Given the description of an element on the screen output the (x, y) to click on. 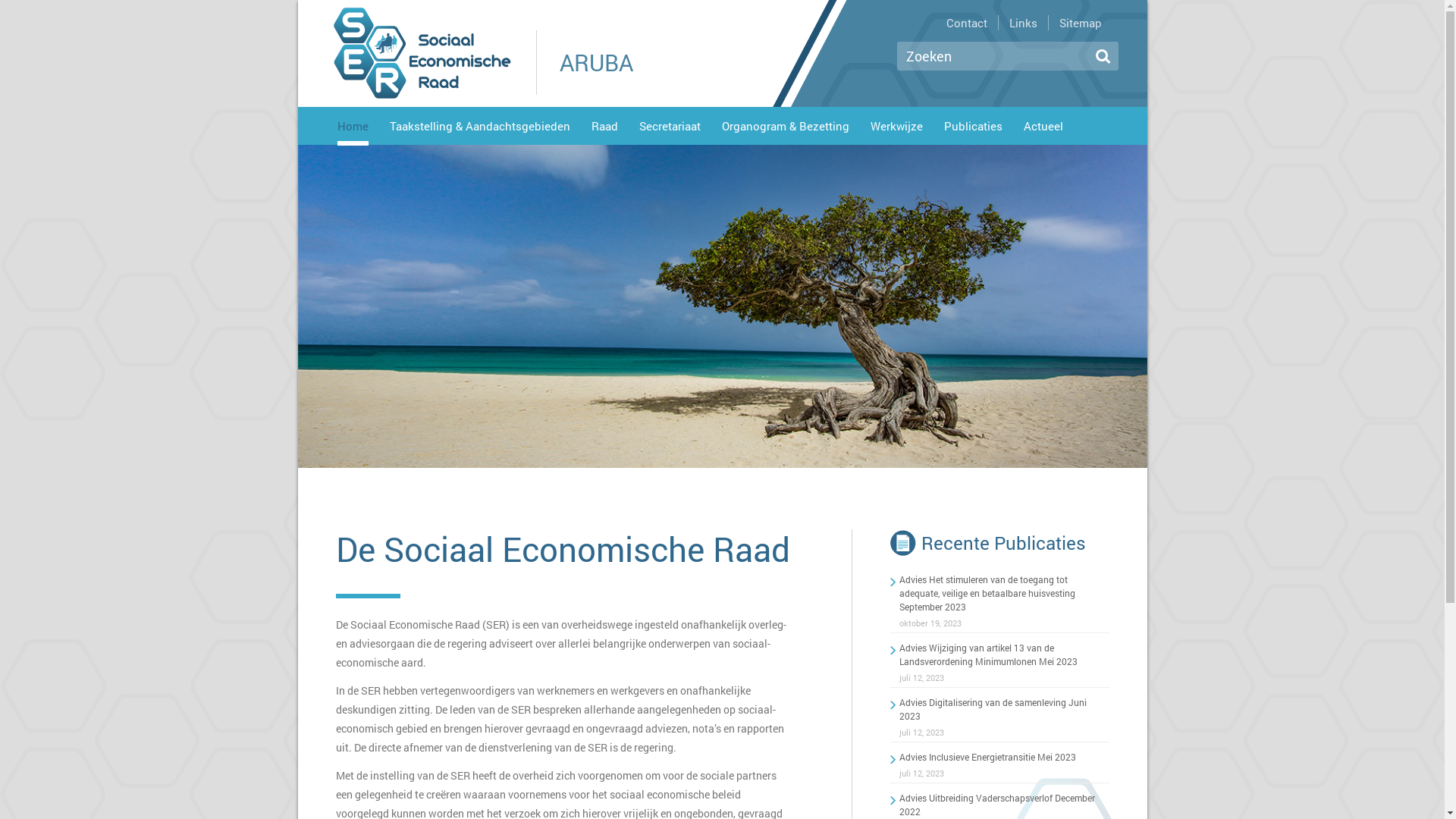
Home Element type: text (351, 131)
Organogram & Bezetting Element type: text (785, 129)
De Sociaal Economische Raad - Aruba Element type: text (422, 52)
Advies Uitbreiding Vaderschapsverlof December 2022 Element type: text (997, 804)
Contact Element type: text (964, 22)
Secretariaat Element type: text (668, 129)
Raad Element type: text (604, 129)
Publicaties Element type: text (972, 129)
Sitemap Element type: text (1078, 22)
Advies Inclusieve Energietransitie Mei 2023 Element type: text (987, 756)
Actueel Element type: text (1043, 129)
Links Element type: text (1020, 22)
Taakstelling & Aandachtsgebieden Element type: text (479, 129)
Werkwijze Element type: text (896, 129)
Advies Digitalisering van de samenleving Juni 2023 Element type: text (992, 708)
